Given the description of an element on the screen output the (x, y) to click on. 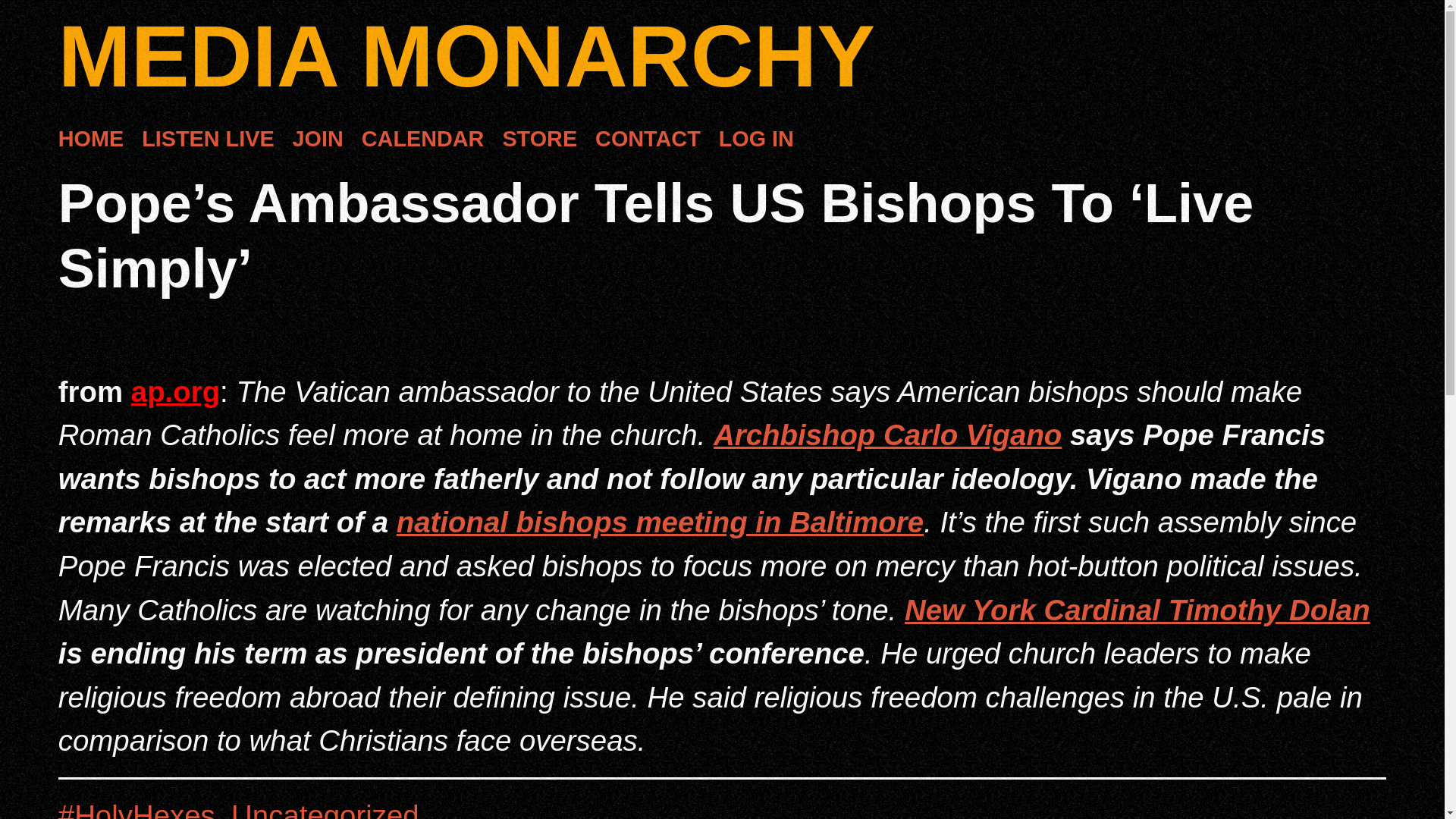
JOIN (317, 138)
LISTEN LIVE (207, 138)
national bishops meeting in Baltimore (659, 522)
New York Cardinal Timothy Dolan (1137, 609)
HOME (90, 138)
ap.org (175, 391)
Archbishop Carlo Vigano (887, 434)
MEDIA MONARCHY (466, 55)
LOG IN (756, 138)
STORE (539, 138)
CALENDAR (422, 138)
CONTACT (647, 138)
Uncategorized (325, 809)
